Given the description of an element on the screen output the (x, y) to click on. 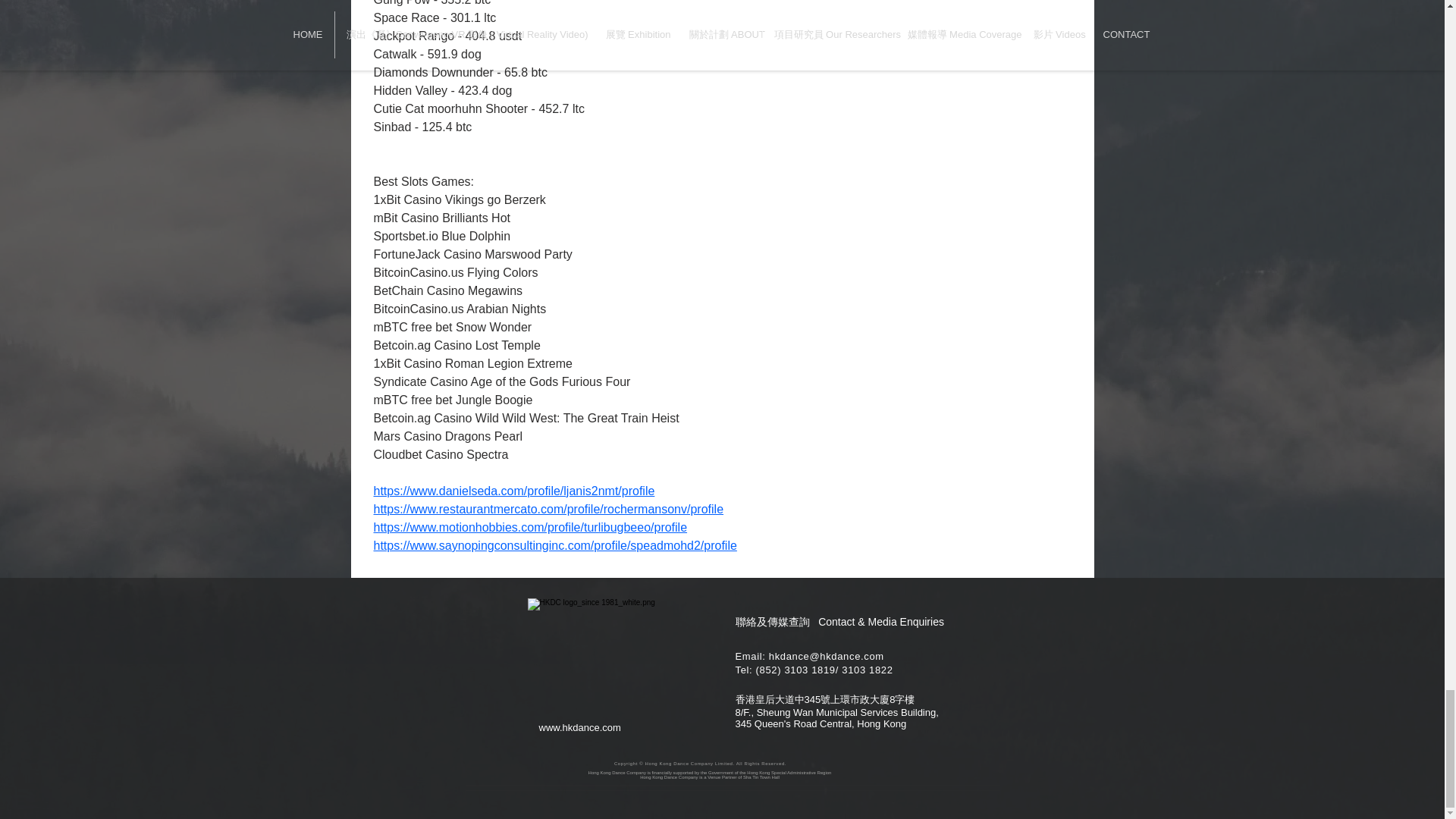
www.hkdance.com (579, 727)
Media Enquiries (905, 621)
